Given the description of an element on the screen output the (x, y) to click on. 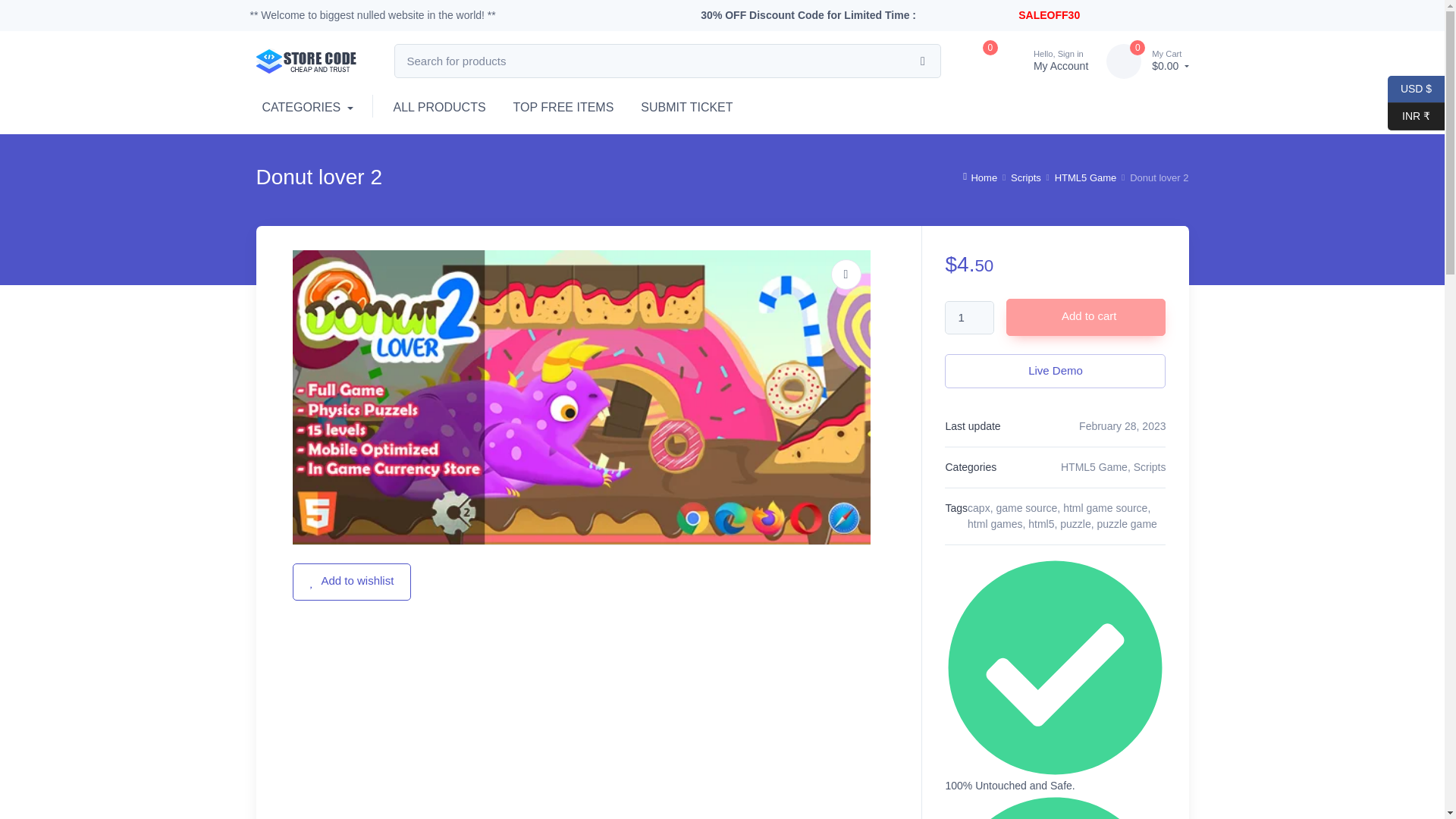
0 (1040, 61)
0 (1123, 61)
1 (976, 61)
Search (968, 317)
